Given the description of an element on the screen output the (x, y) to click on. 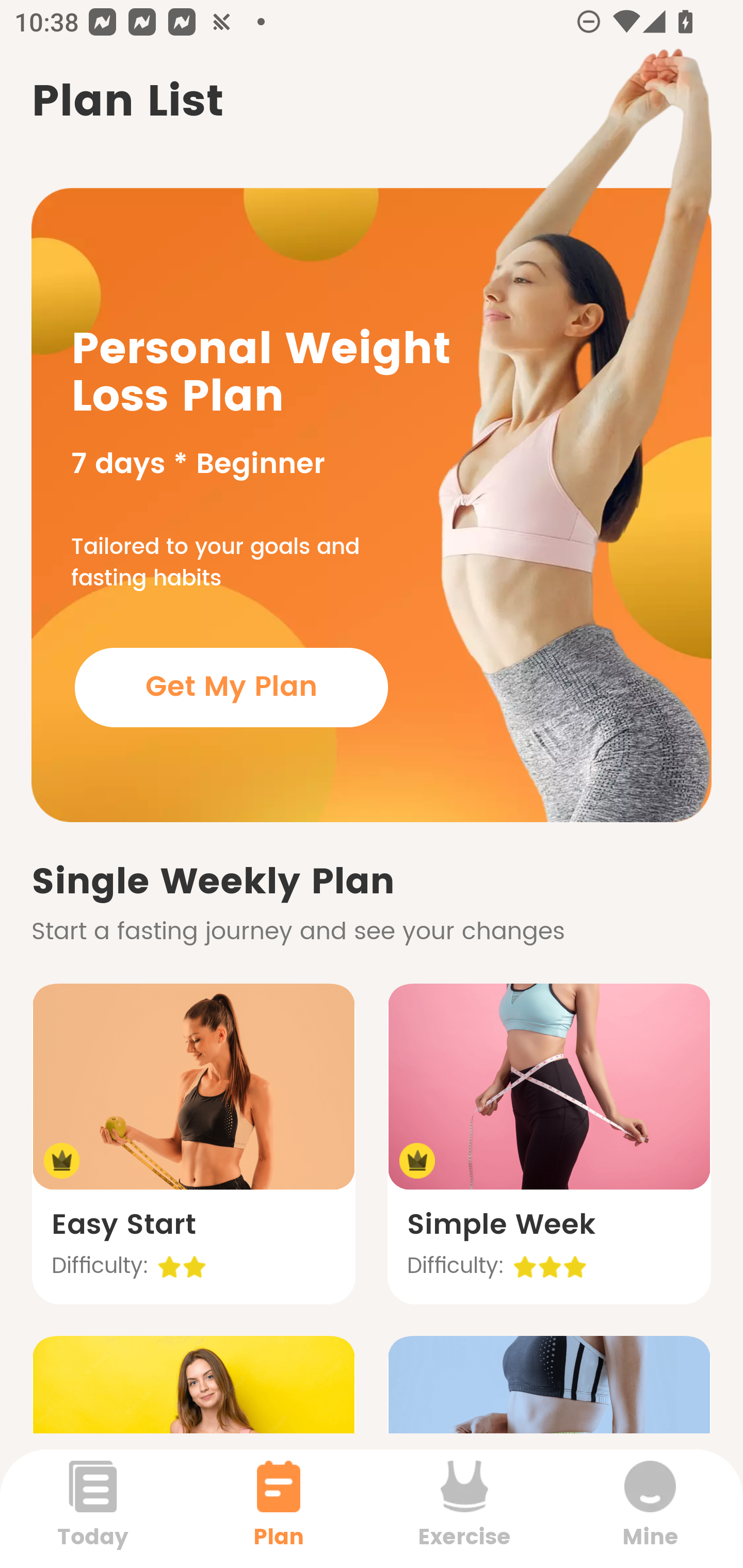
Get My Plan (231, 687)
Easy Start Difficulty: 2.0 (193, 1143)
Simple Week Difficulty: 3.0 (549, 1143)
Today (92, 1508)
Exercise (464, 1508)
Mine (650, 1508)
